Given the description of an element on the screen output the (x, y) to click on. 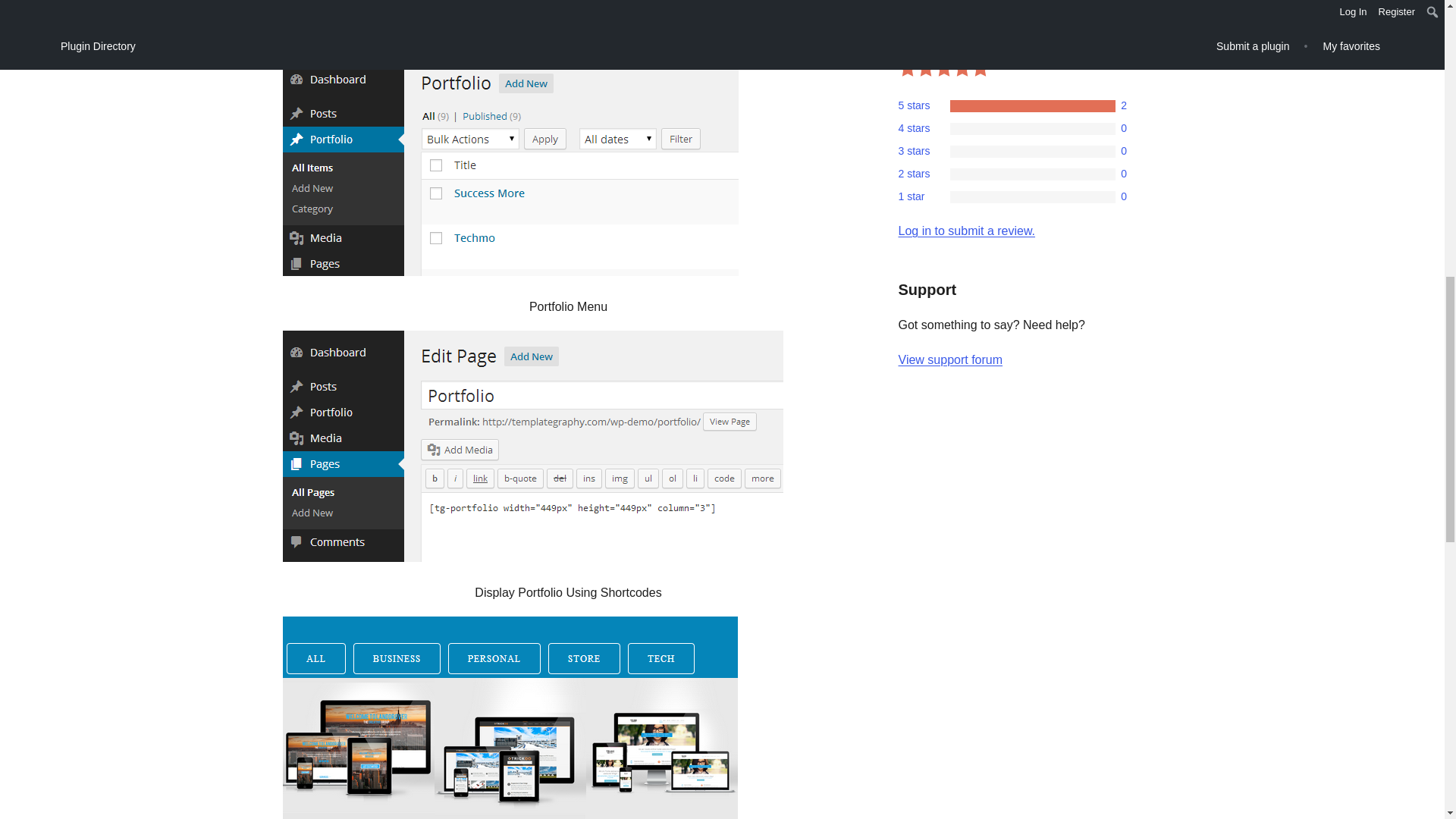
Log in to WordPress.org (966, 230)
